Given the description of an element on the screen output the (x, y) to click on. 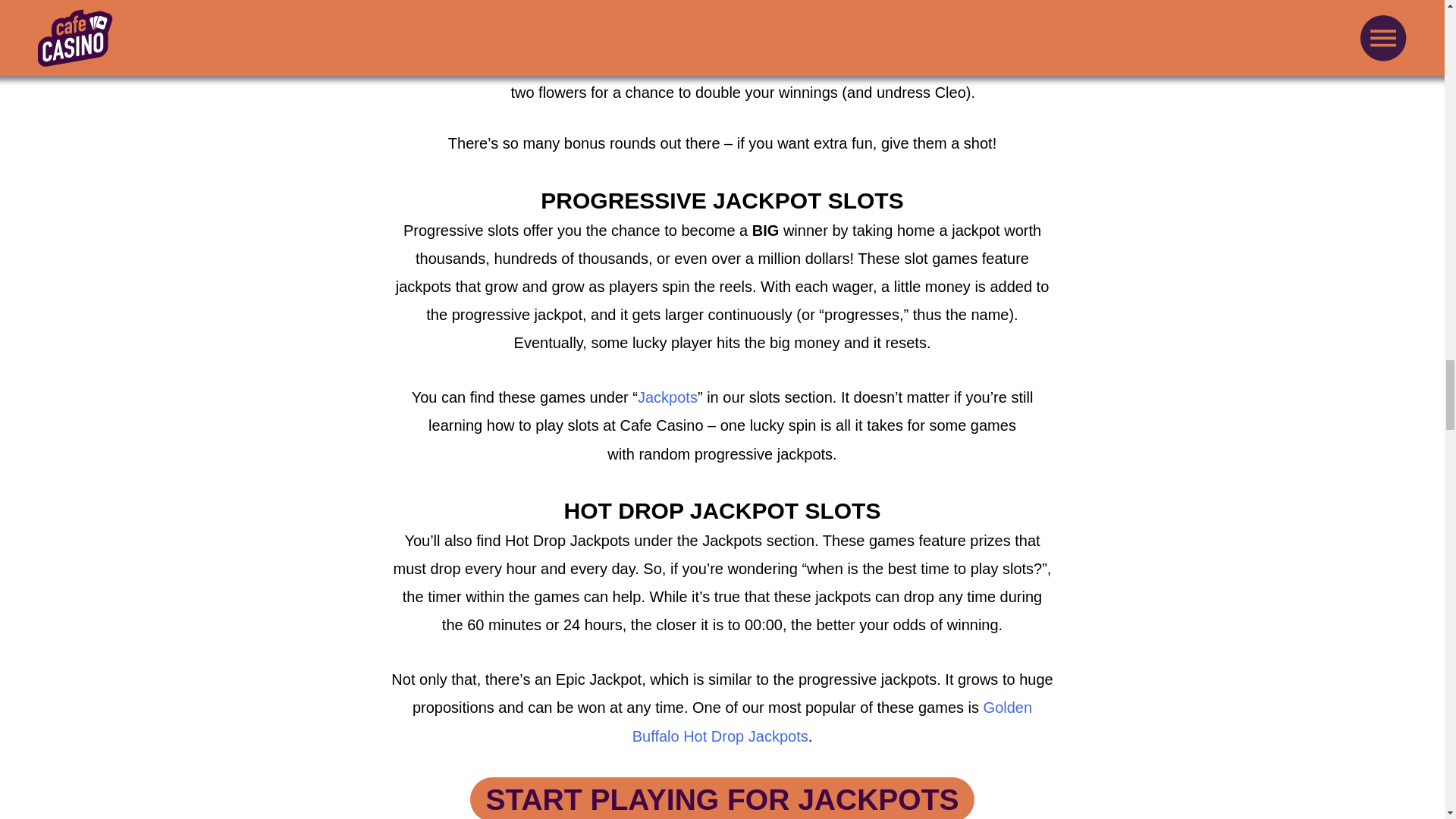
START PLAYING FOR JACKPOTS (722, 798)
Jackpots (667, 397)
Gold Rush Gus (498, 8)
Golden Buffalo Hot Drop Jackpots (831, 721)
A Night With Cleo (512, 64)
